Given the description of an element on the screen output the (x, y) to click on. 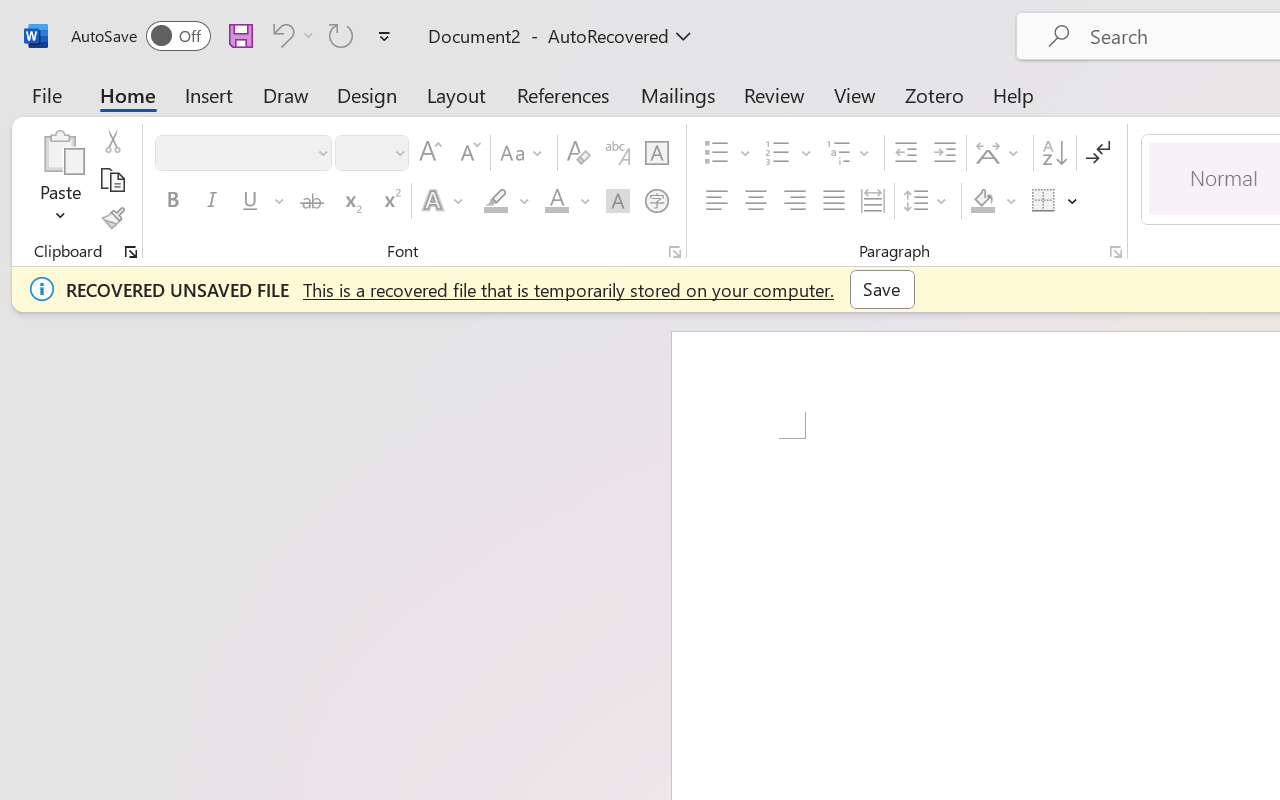
Strikethrough (312, 201)
Office Clipboard... (131, 252)
Copy (112, 179)
Character Border (656, 153)
Change Case (524, 153)
Decrease Indent (906, 153)
Italic (212, 201)
Sort... (1054, 153)
Text Highlight Color (506, 201)
